Given the description of an element on the screen output the (x, y) to click on. 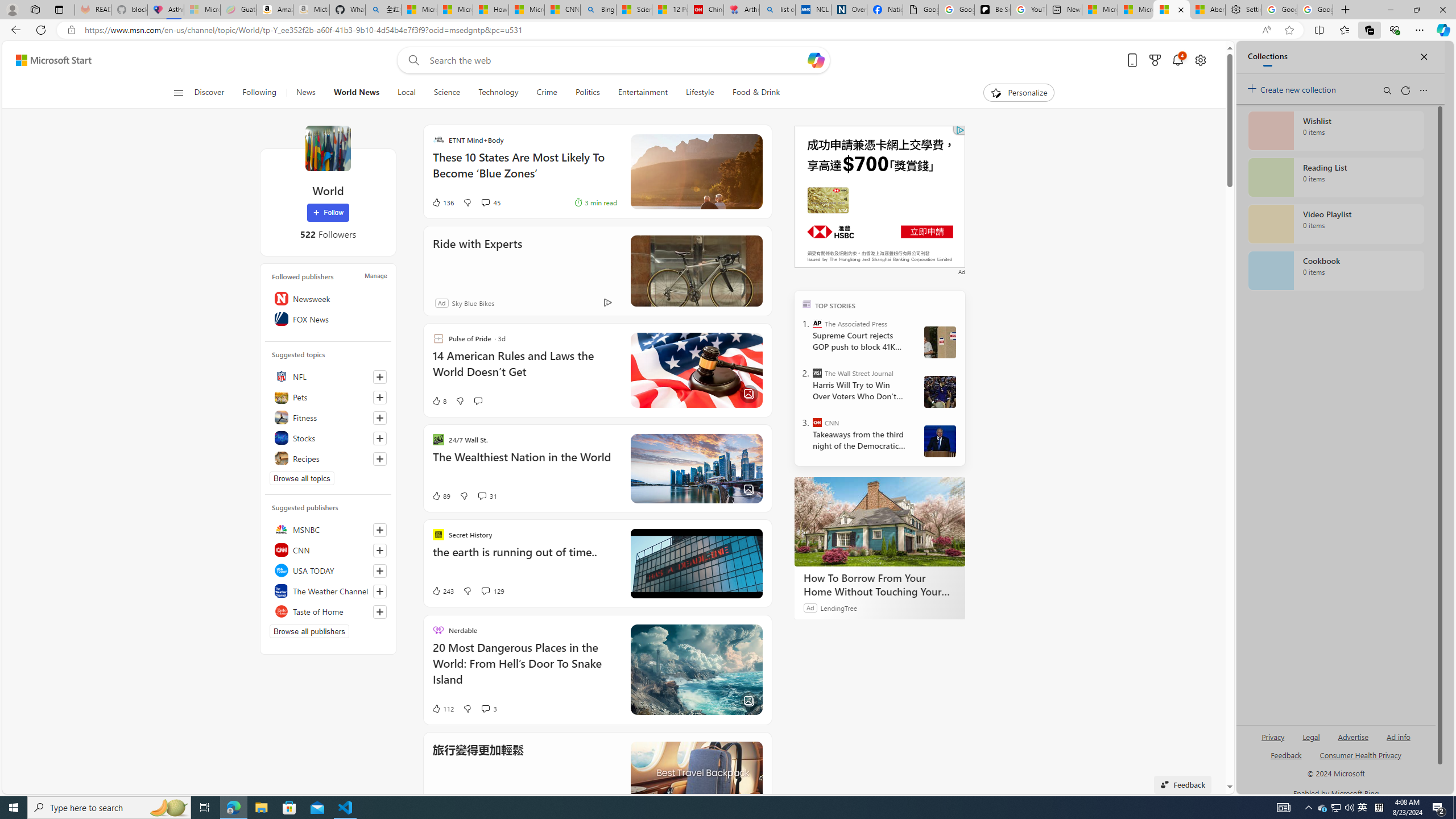
How I Got Rid of Microsoft Edge's Unnecessary Features (490, 9)
Browse all topics (301, 477)
View comments 31 Comment (487, 495)
the earth is running out of time.. (524, 557)
View comments 3 Comment (489, 708)
Follow this source (379, 612)
Sky Blue Bikes (472, 302)
